Given the description of an element on the screen output the (x, y) to click on. 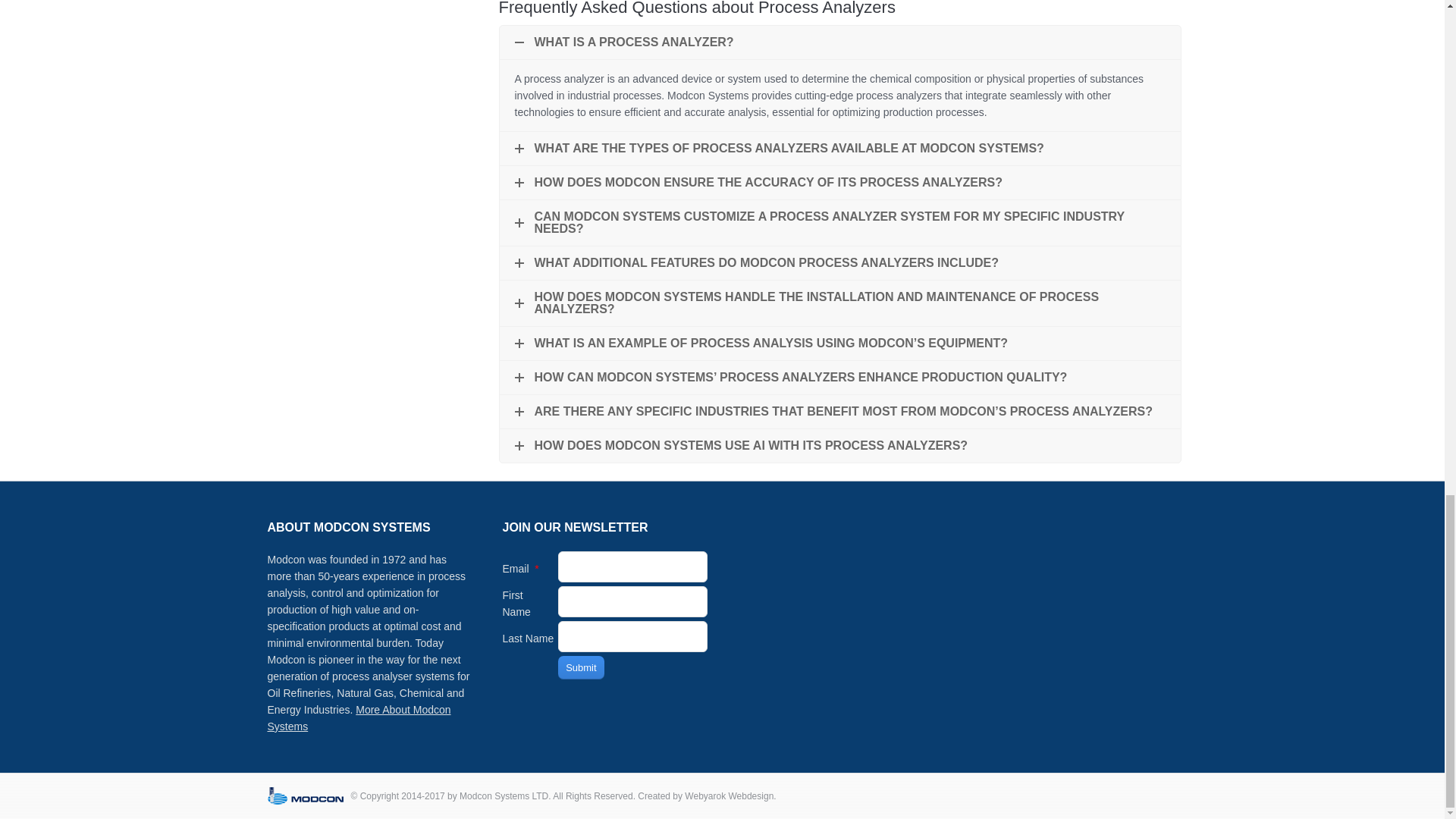
Submit (581, 667)
